Given the description of an element on the screen output the (x, y) to click on. 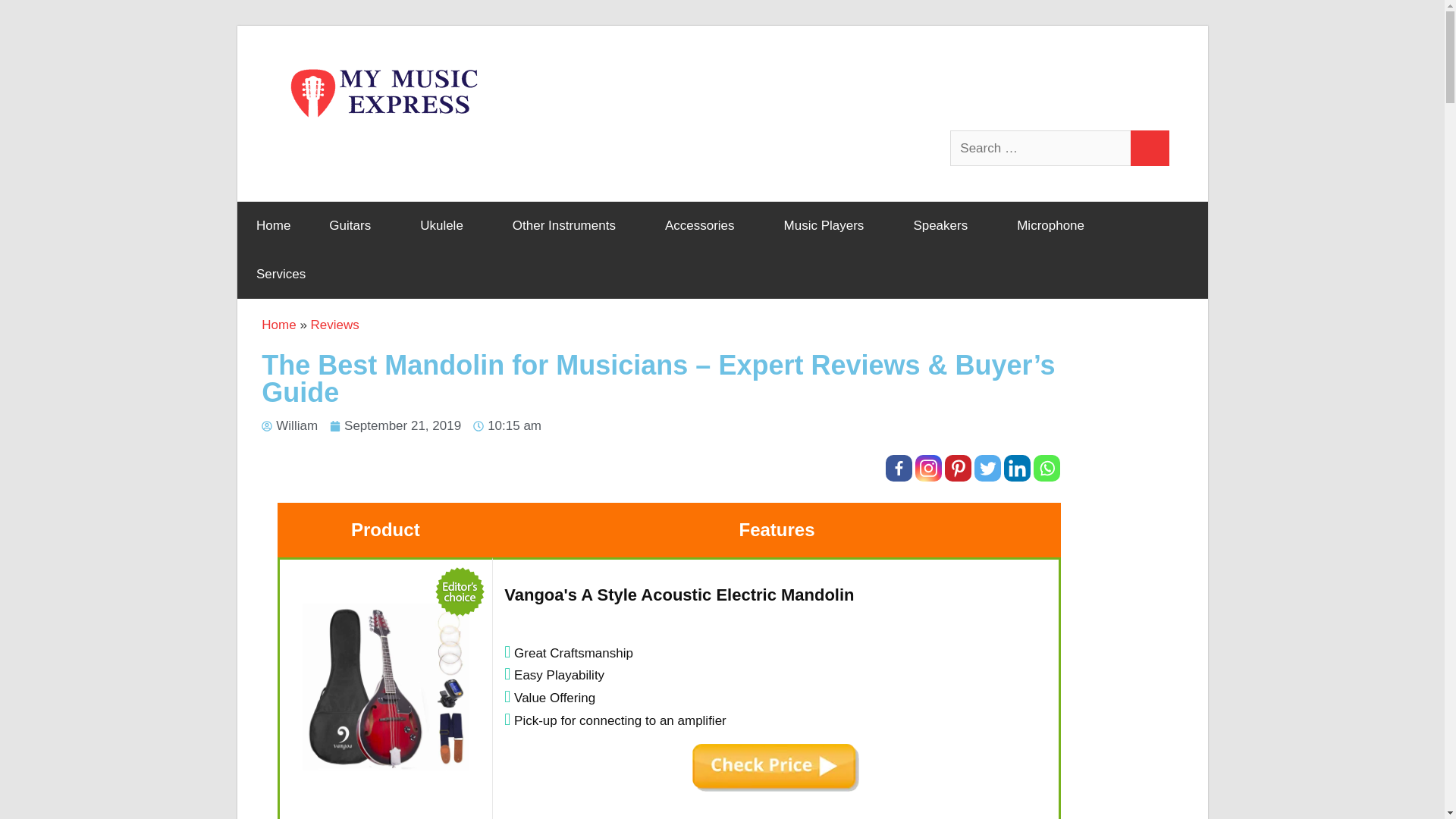
Search for: (1041, 148)
Twitter (987, 468)
Other Instruments (569, 225)
Instagram (928, 468)
Guitars (355, 225)
Facebook (898, 468)
Pinterest (957, 468)
Linkedin (1017, 468)
Ukulele (447, 225)
Home (271, 225)
Whatsapp (1046, 468)
